Given the description of an element on the screen output the (x, y) to click on. 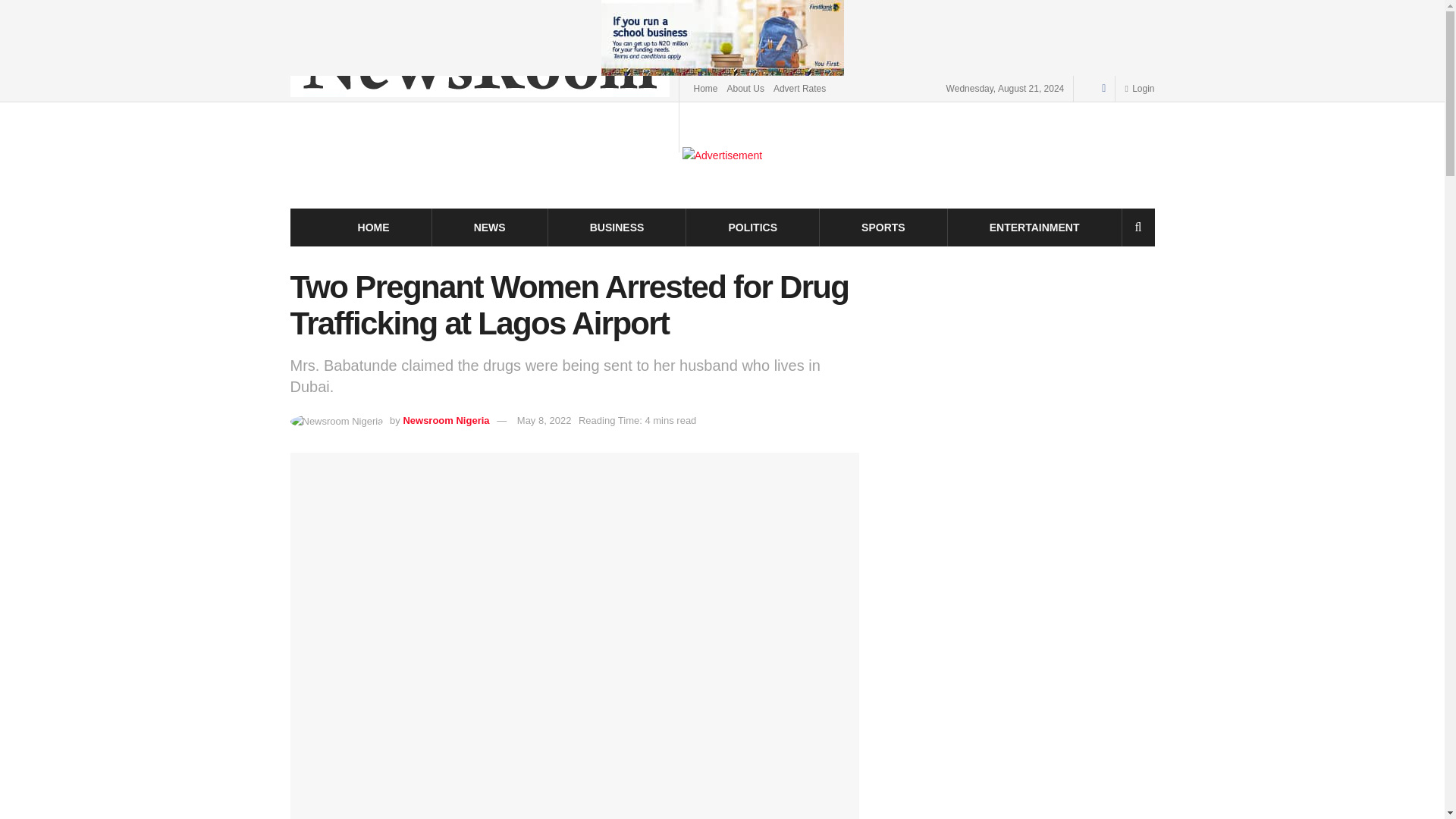
NEWS (489, 227)
About Us (745, 88)
May 8, 2022 (544, 419)
HOME (374, 227)
Home (705, 88)
Advert Rates (799, 88)
SPORTS (883, 227)
BUSINESS (617, 227)
POLITICS (752, 227)
Login (1139, 88)
